Given the description of an element on the screen output the (x, y) to click on. 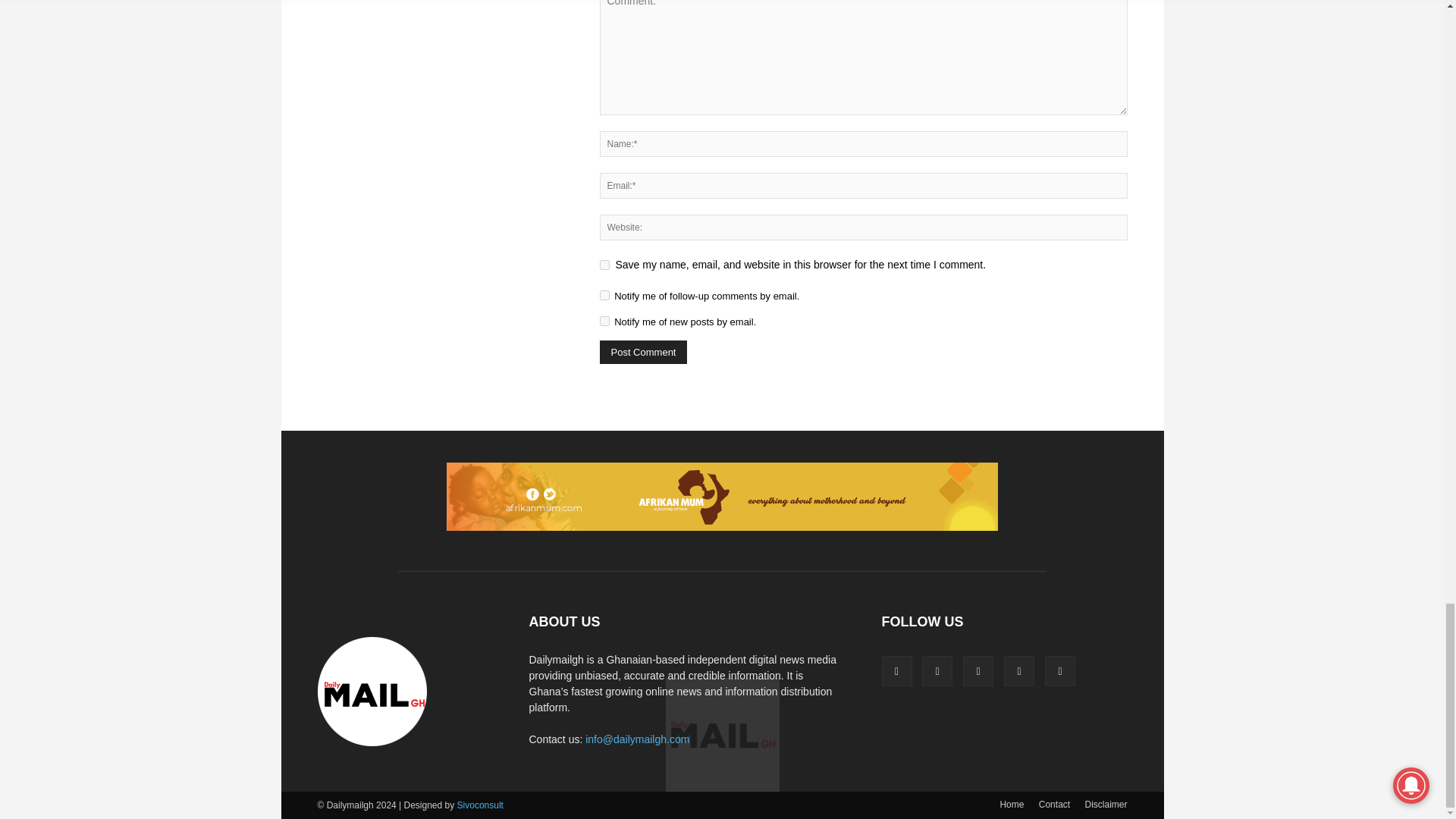
Post Comment (642, 351)
yes (603, 265)
subscribe (603, 295)
subscribe (603, 320)
